Given the description of an element on the screen output the (x, y) to click on. 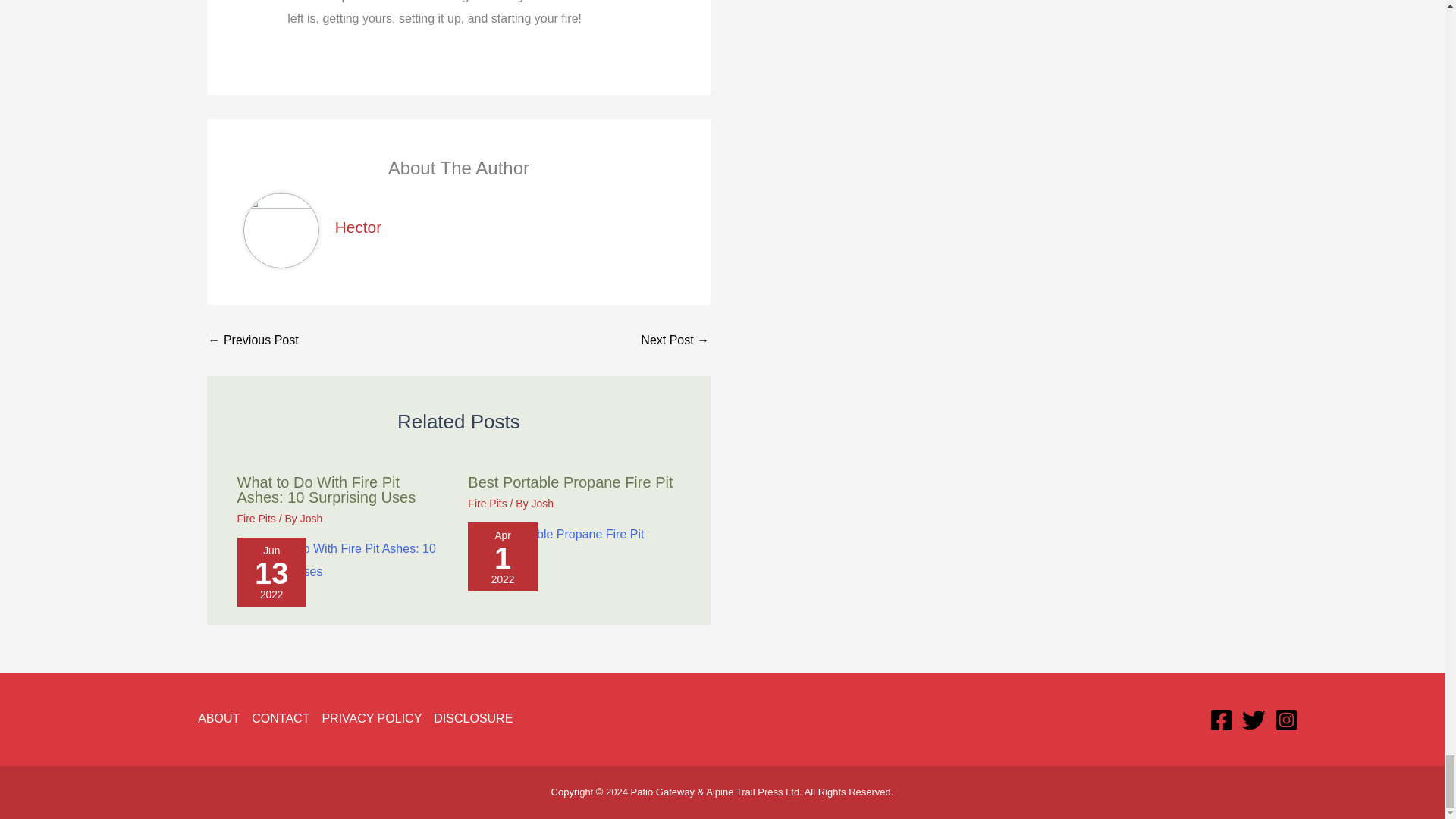
Best Cast Iron Fire Pits (674, 340)
View all posts by Josh (311, 518)
Porch Swing Hardware Guide (253, 340)
View all posts by Josh (542, 503)
